Given the description of an element on the screen output the (x, y) to click on. 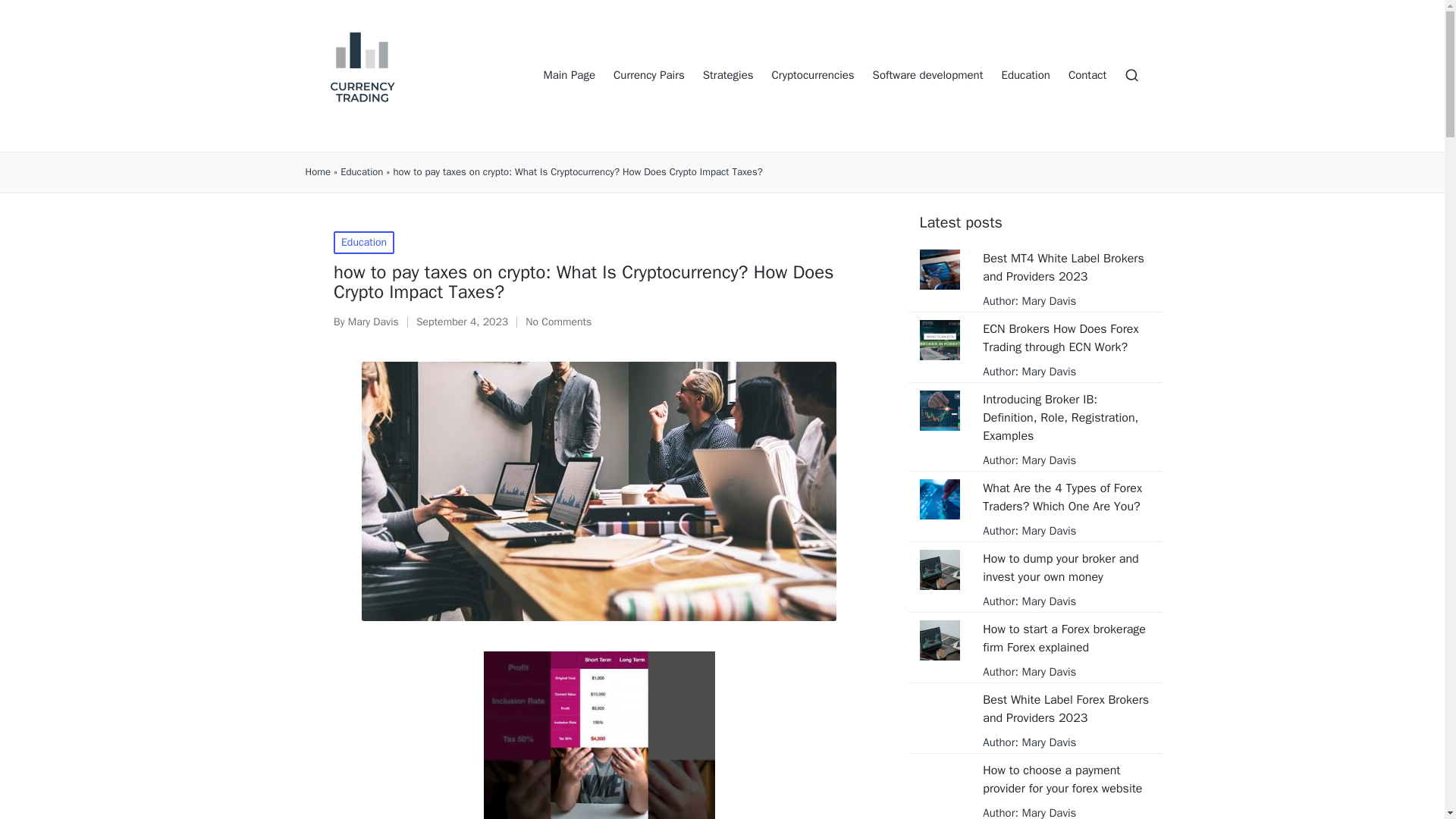
No Comments (558, 321)
How to dump your broker and invest your own money (1066, 567)
Currency Pairs (648, 75)
Strategies (728, 75)
Education (363, 241)
Mary Davis (372, 321)
Education (361, 171)
Main Page (569, 75)
View all posts by Mary Davis (372, 321)
Mary Davis (1046, 530)
